Given the description of an element on the screen output the (x, y) to click on. 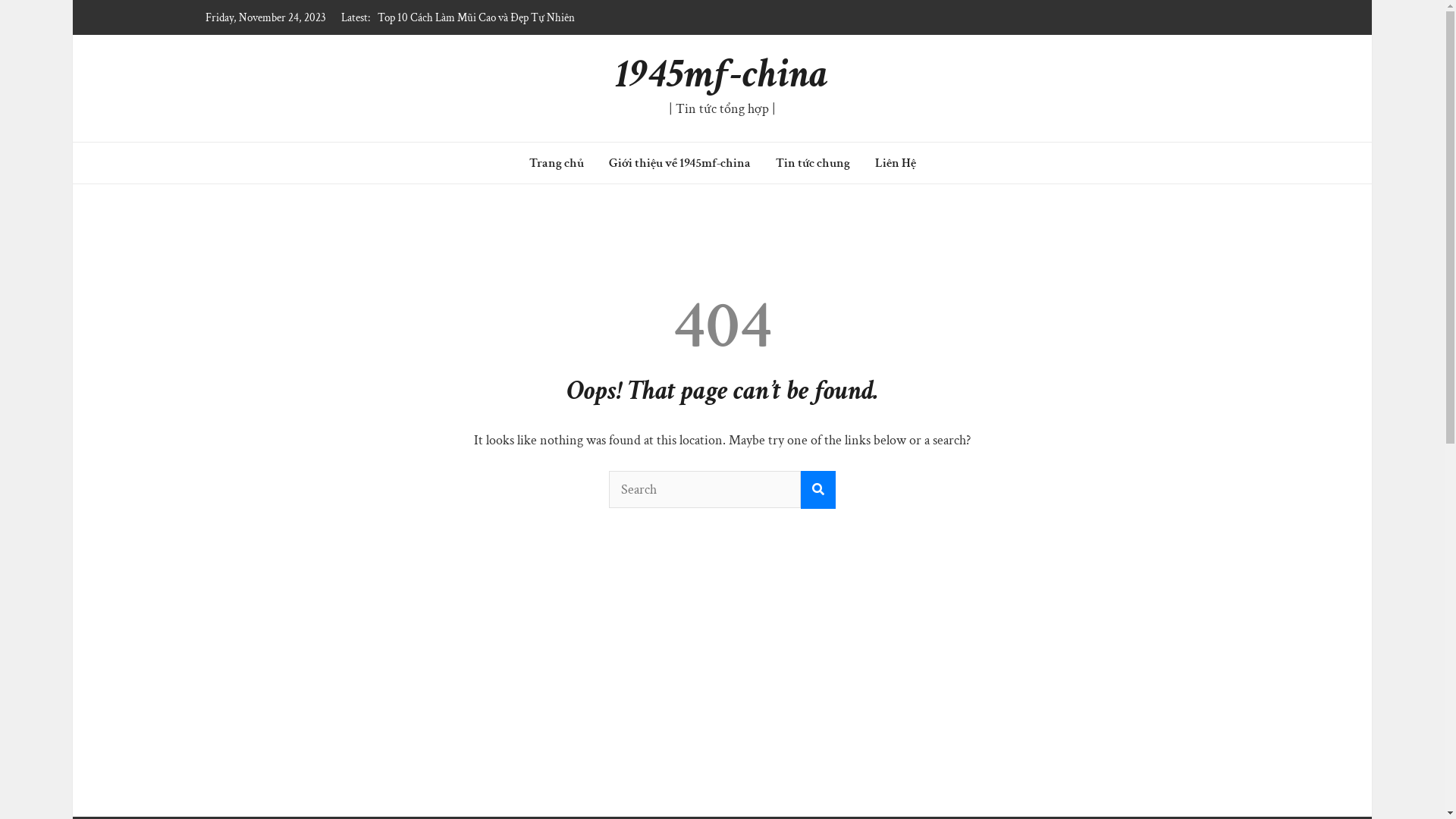
1945mf-china Element type: text (722, 73)
